Given the description of an element on the screen output the (x, y) to click on. 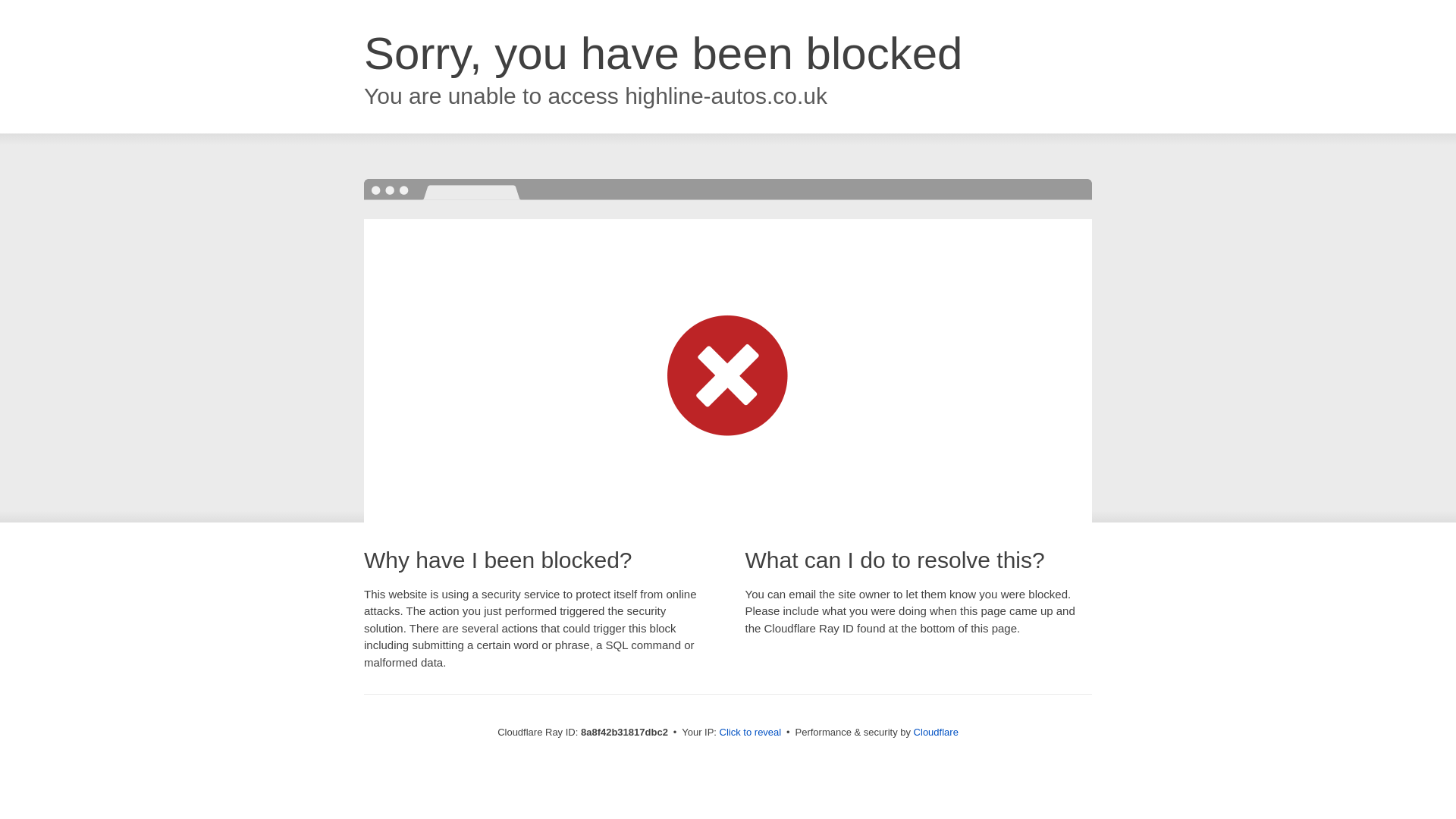
Click to reveal (750, 732)
Cloudflare (936, 731)
